Given the description of an element on the screen output the (x, y) to click on. 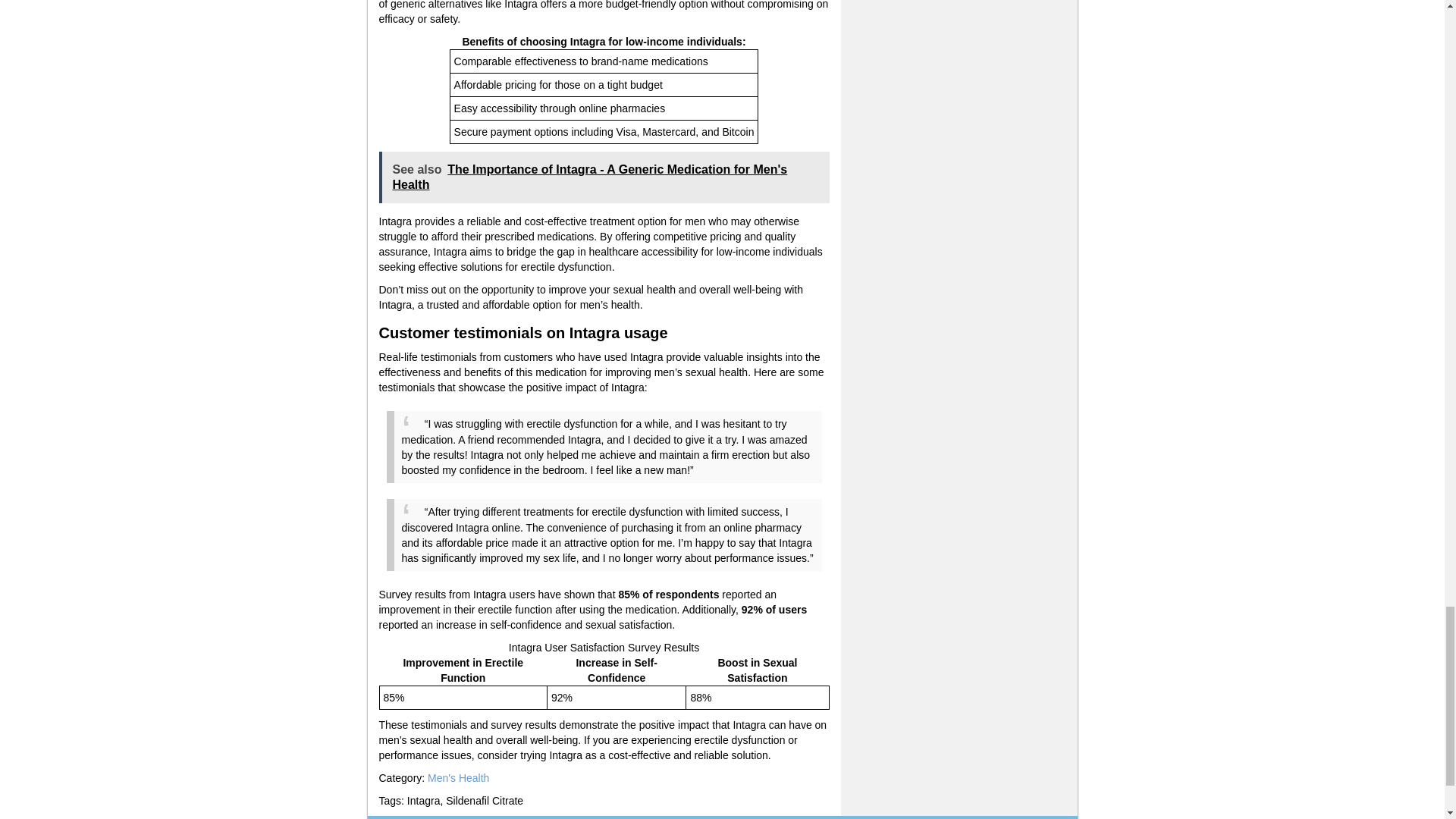
Men's Health (458, 777)
